Given the description of an element on the screen output the (x, y) to click on. 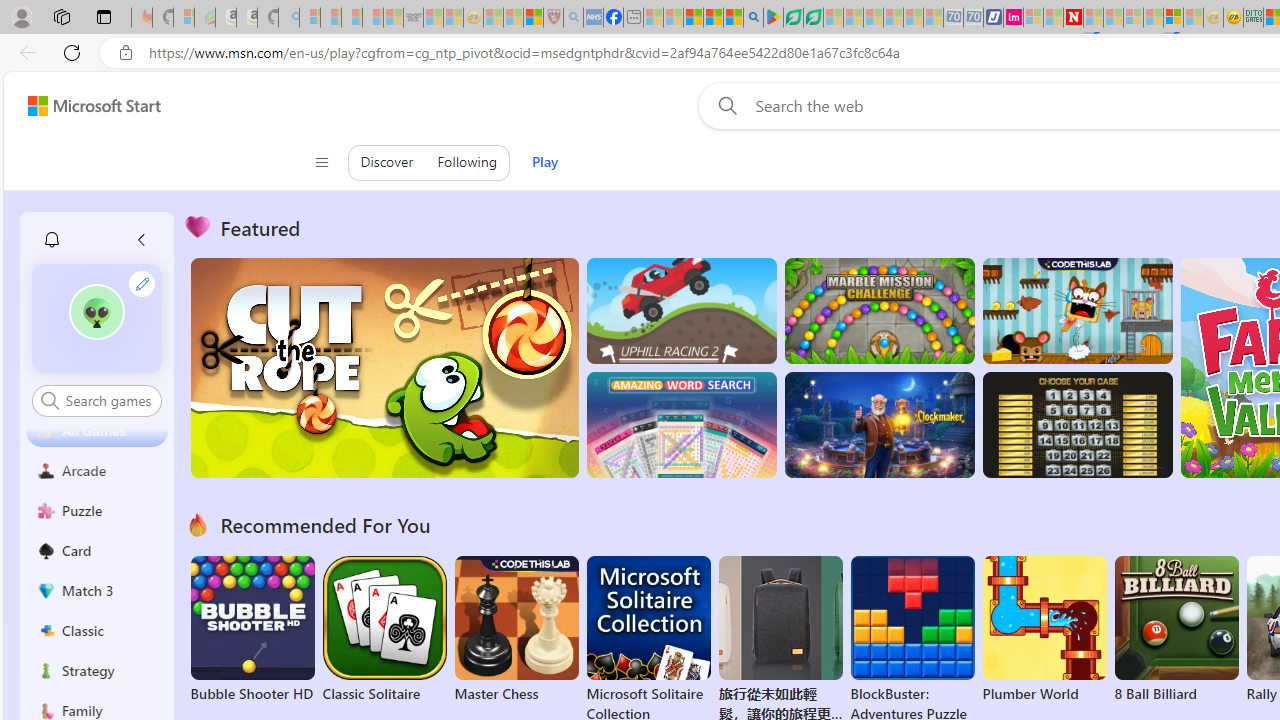
Marble Mission : Challenge (879, 310)
8 Ball Billiard (1176, 629)
Cut the Rope (383, 367)
Class: profile-edit (142, 283)
Master Chess (516, 629)
